Given the description of an element on the screen output the (x, y) to click on. 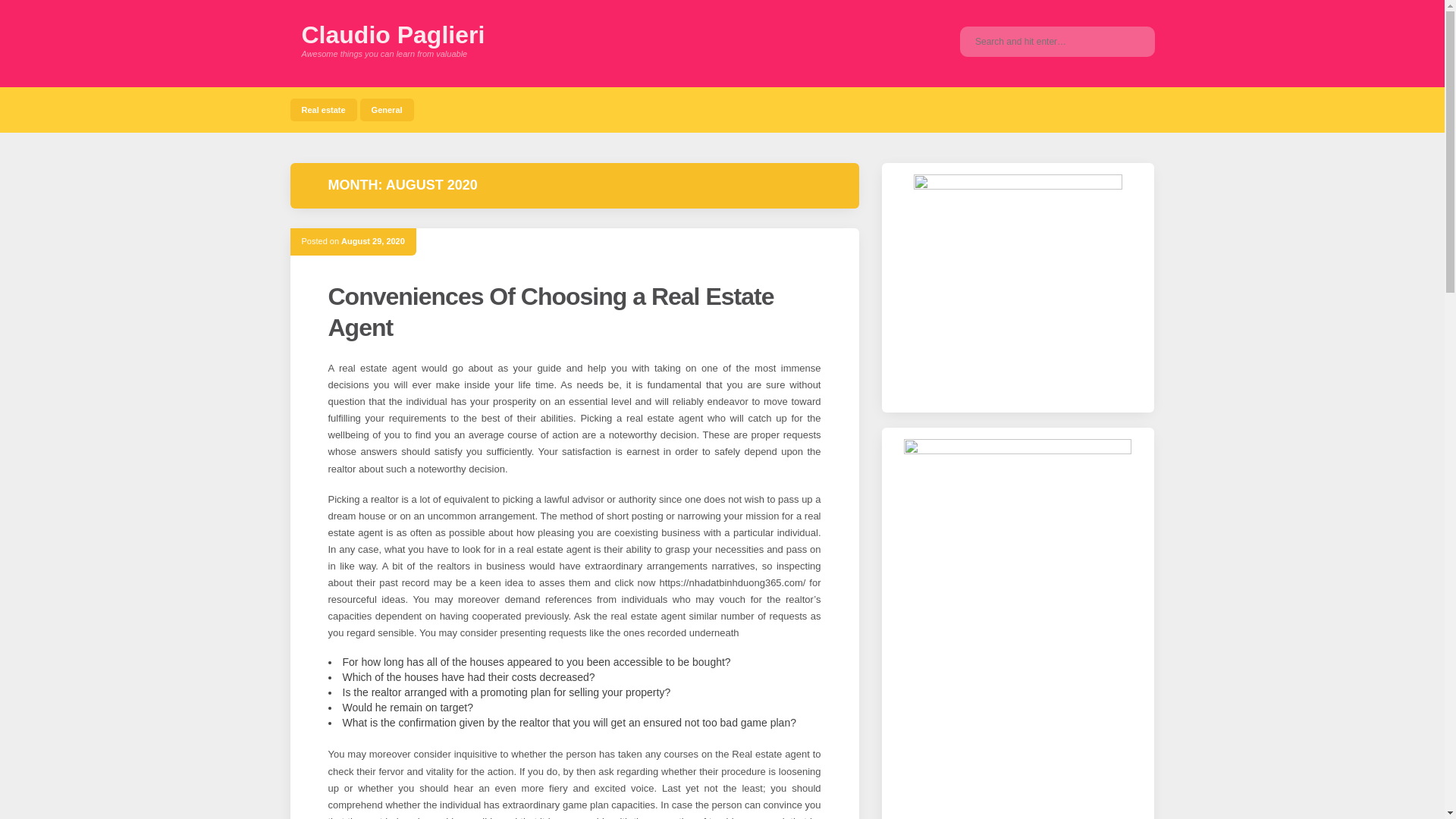
Claudio Paglieri (392, 34)
General (386, 109)
Search (1131, 41)
August 29, 2020 (372, 240)
Conveniences Of Choosing a Real Estate Agent (550, 312)
Search (1131, 41)
Real estate (322, 109)
General (386, 109)
Real estate (322, 109)
Search (1131, 41)
